Given the description of an element on the screen output the (x, y) to click on. 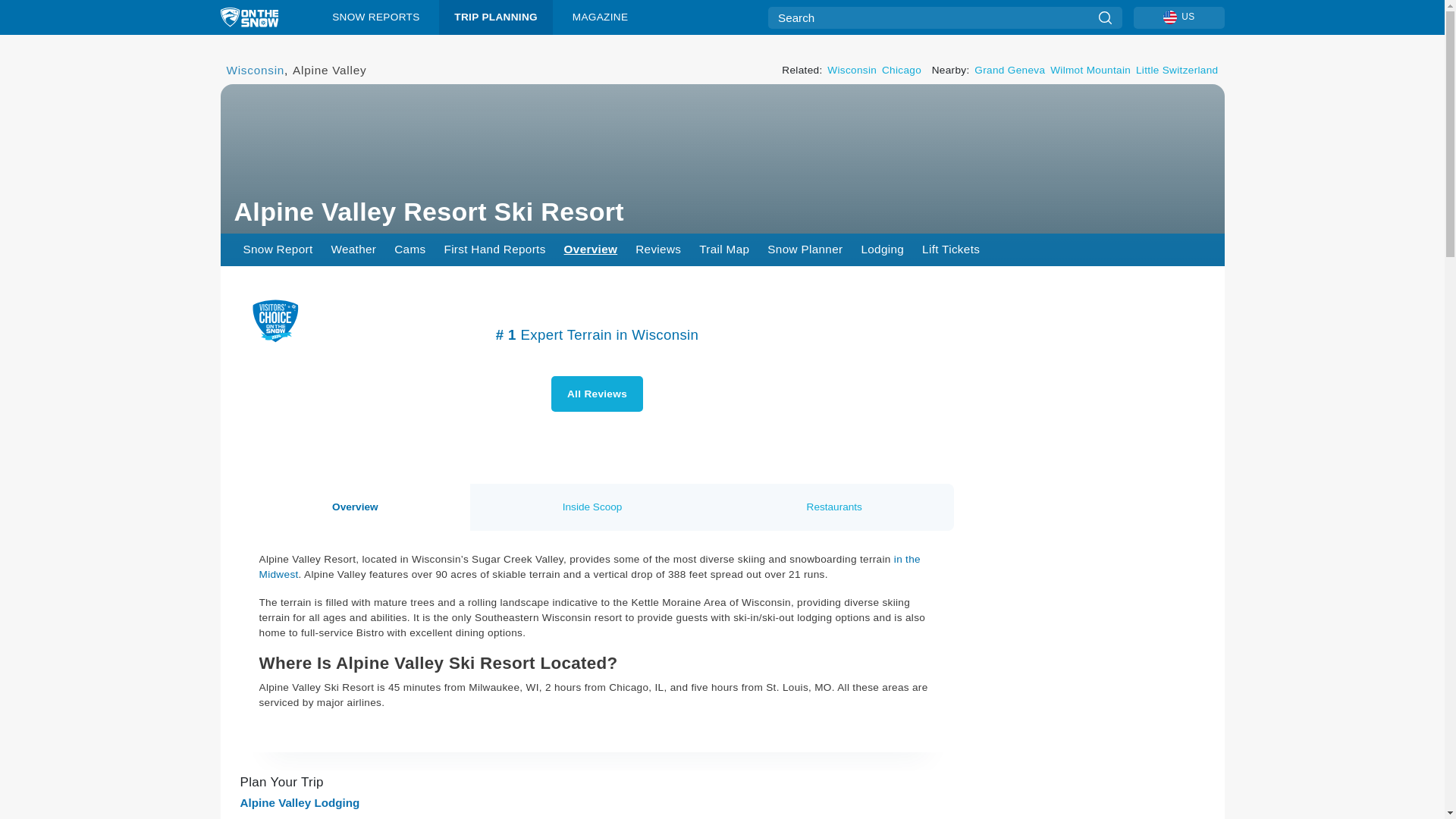
Little Switzerland (1176, 70)
Reviews (658, 249)
First Hand Reports (493, 249)
SNOW REPORTS (376, 17)
Snow Report (276, 249)
MAGAZINE (599, 17)
All Reviews (597, 393)
Lift Tickets (950, 249)
Wisconsin (254, 69)
Wilmot Mountain (1090, 70)
Search (1104, 16)
Weather (353, 249)
Cams (409, 249)
US (1178, 16)
TRIP PLANNING (496, 17)
